Given the description of an element on the screen output the (x, y) to click on. 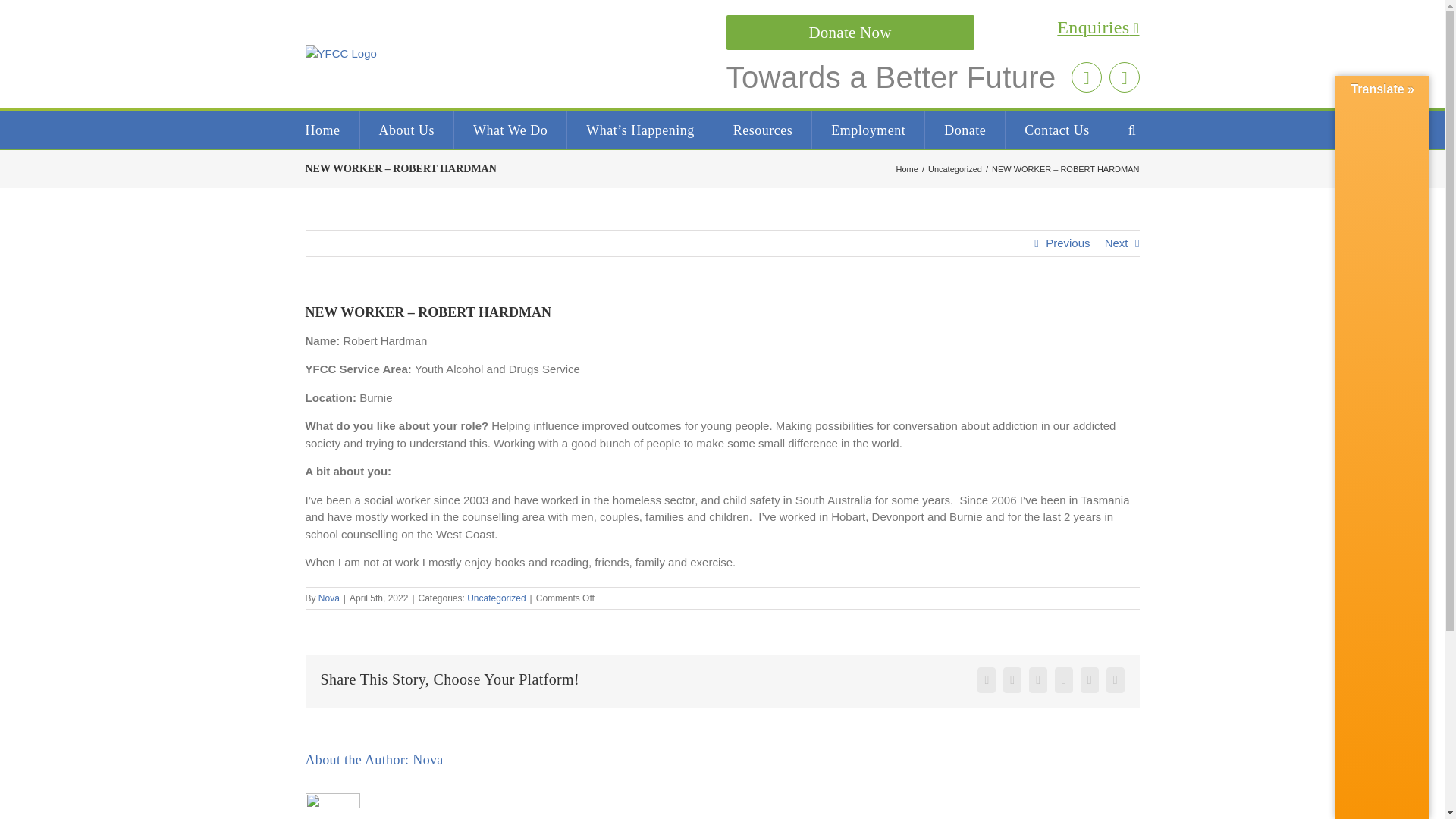
Home (321, 130)
Donate (964, 130)
What We Do (510, 130)
Resources (762, 130)
About Us (406, 130)
Posts by Nova (328, 597)
Employment (868, 130)
Enquiries (933, 27)
Donate Now (850, 32)
Like us on Facebook (1123, 77)
Home (907, 168)
Previous (1067, 243)
Contact Us (1057, 130)
Enquiries (933, 27)
Uncategorized (954, 168)
